Given the description of an element on the screen output the (x, y) to click on. 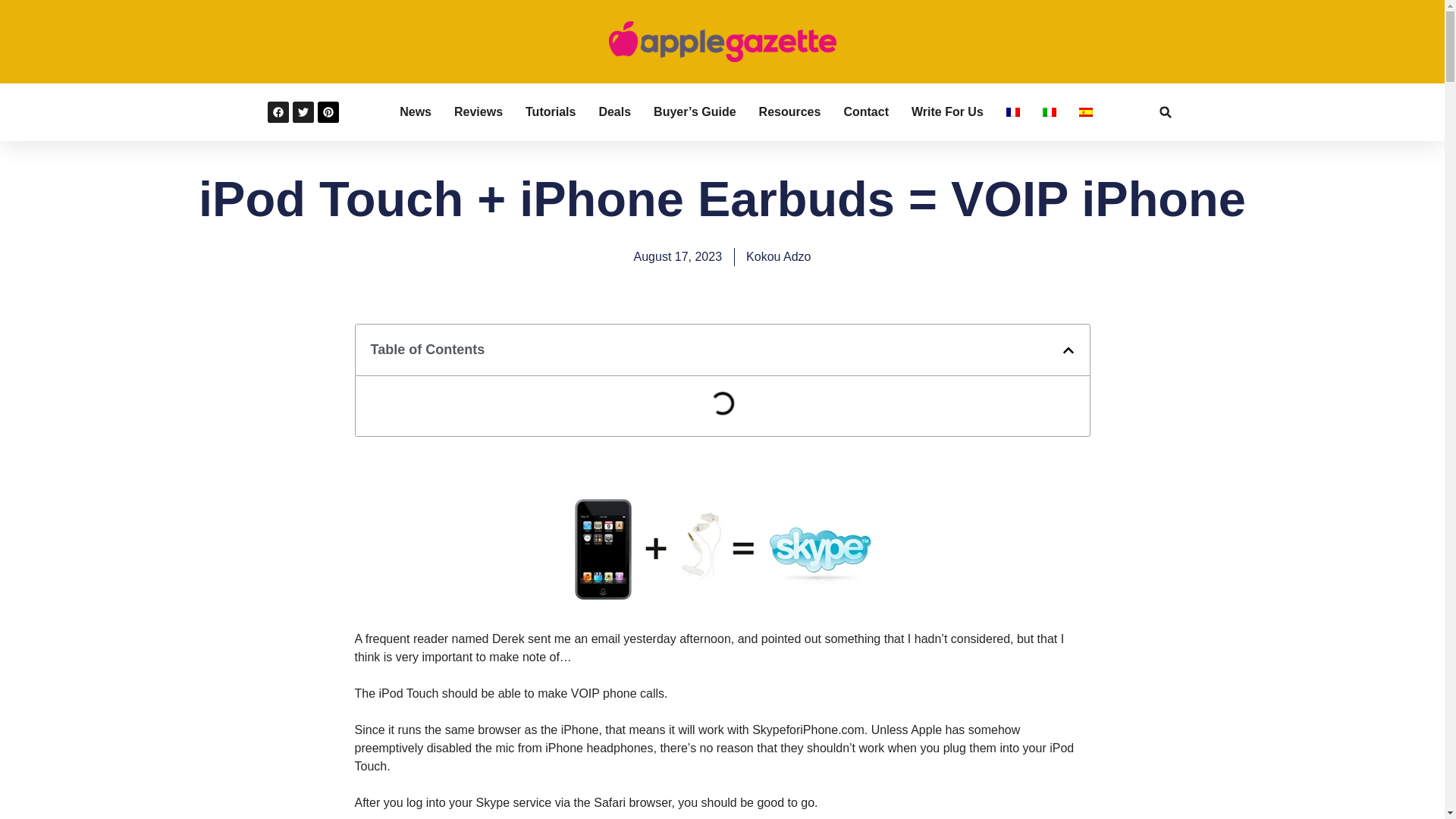
Write For Us (947, 112)
Tutorials (550, 112)
News (414, 112)
Resources (789, 112)
Reviews (478, 112)
ipodtouchphone.jpg (721, 602)
Contact (865, 112)
Deals (614, 112)
